Given the description of an element on the screen output the (x, y) to click on. 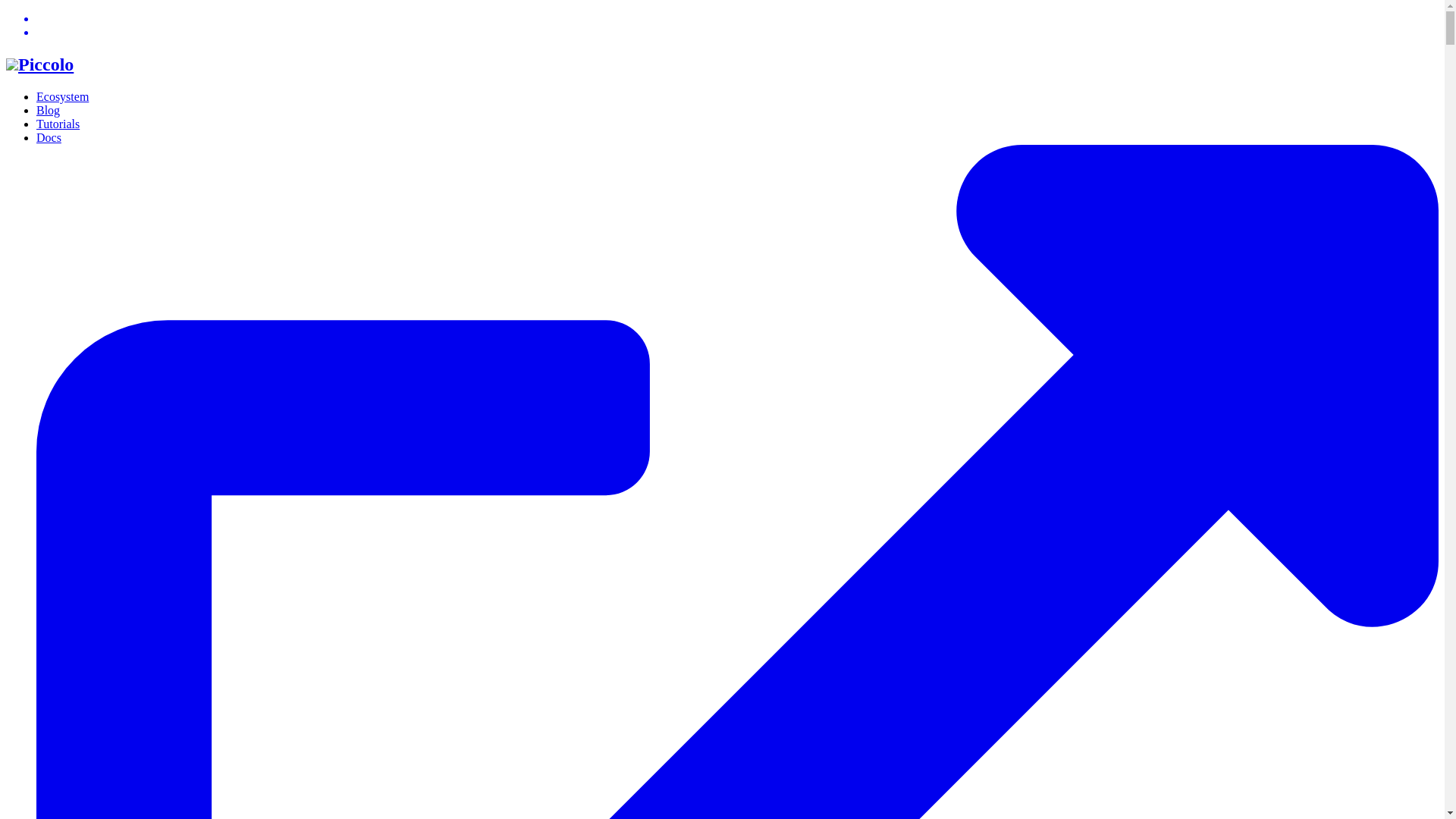
Tutorials (58, 123)
Blog (47, 110)
Ecosystem (62, 96)
Piccolo (39, 64)
